Given the description of an element on the screen output the (x, y) to click on. 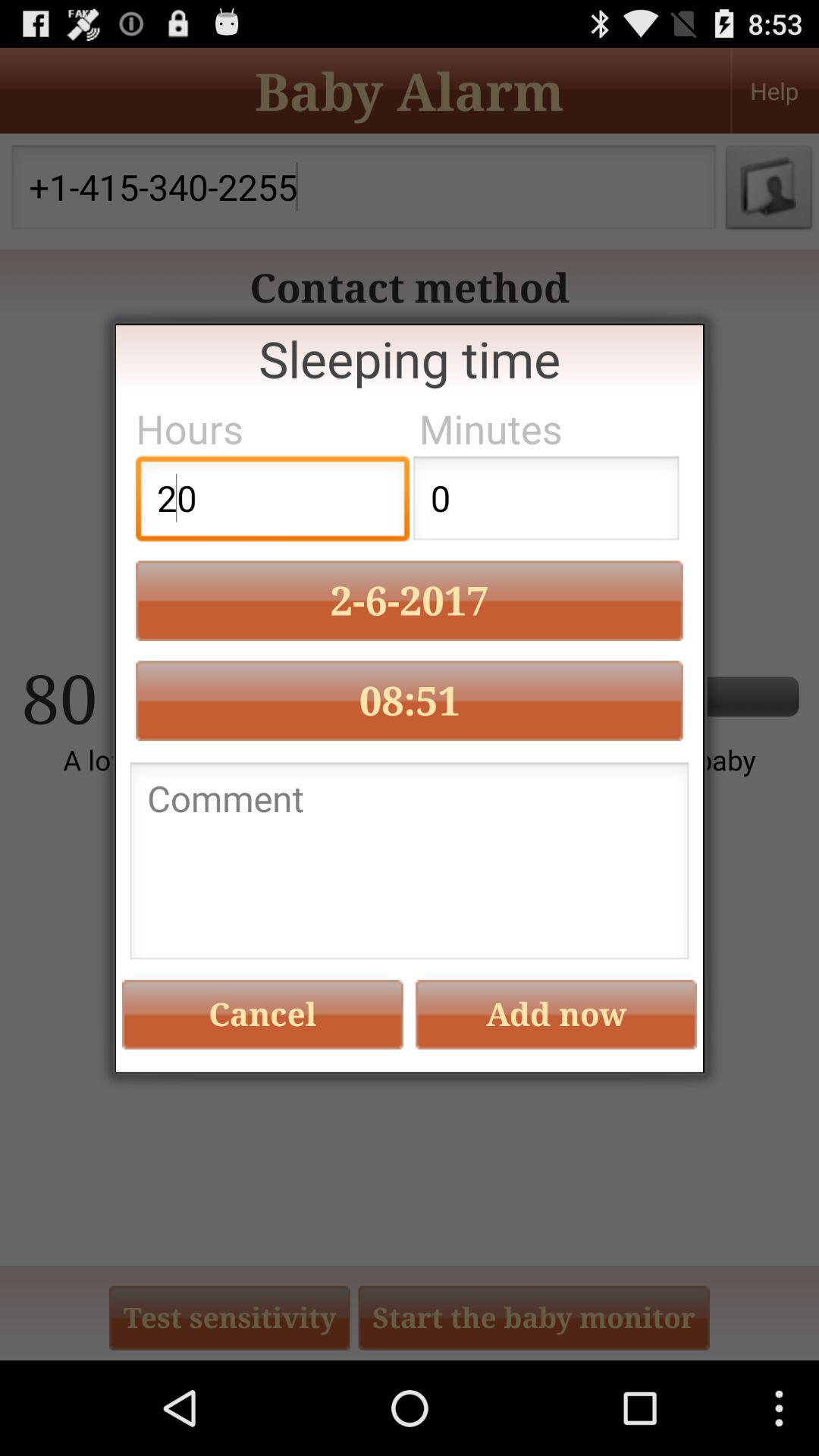
comment box (409, 864)
